Given the description of an element on the screen output the (x, y) to click on. 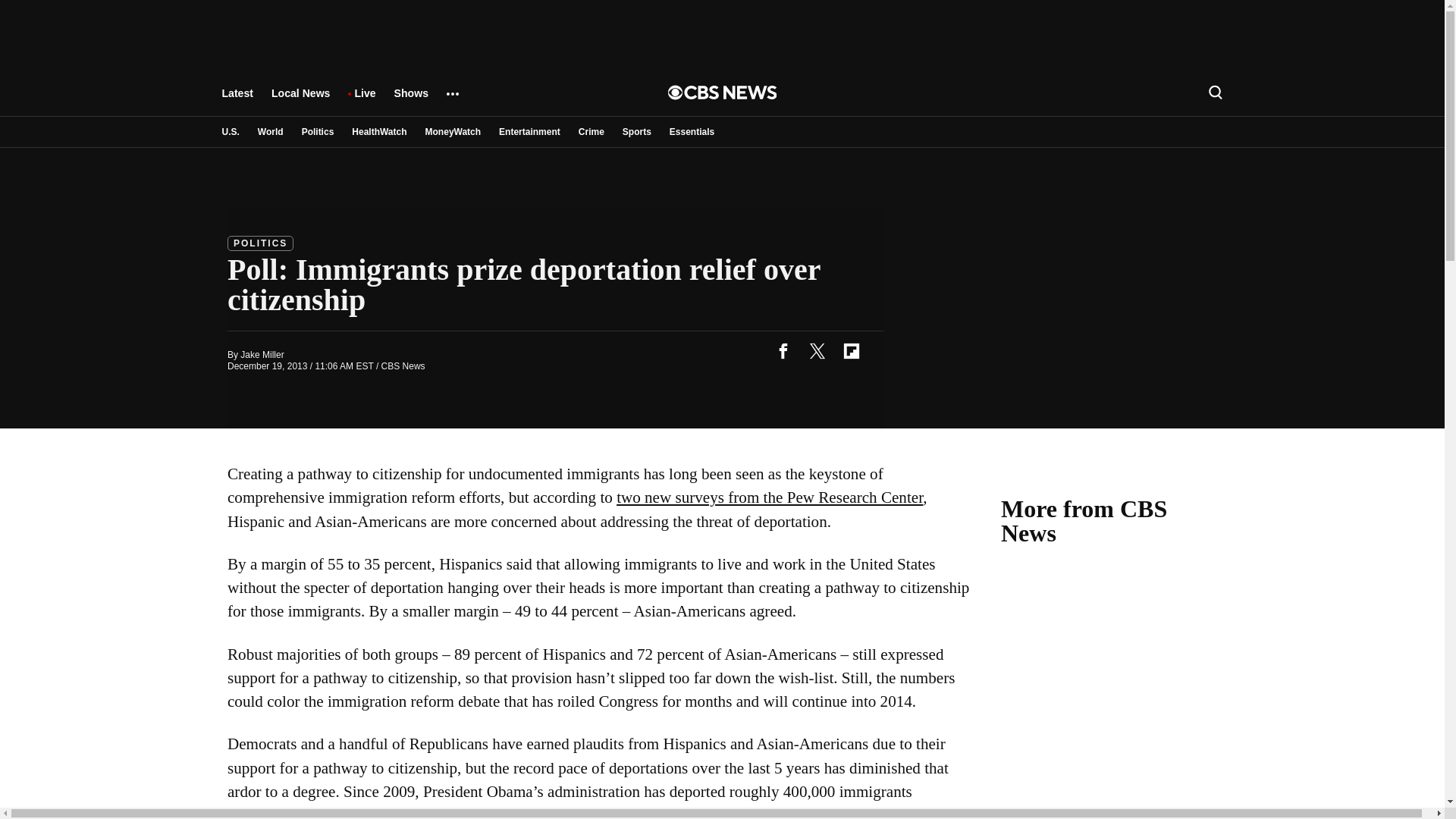
Latest (236, 100)
twitter (816, 350)
Local News (300, 100)
facebook (782, 350)
flipboard (850, 350)
